Given the description of an element on the screen output the (x, y) to click on. 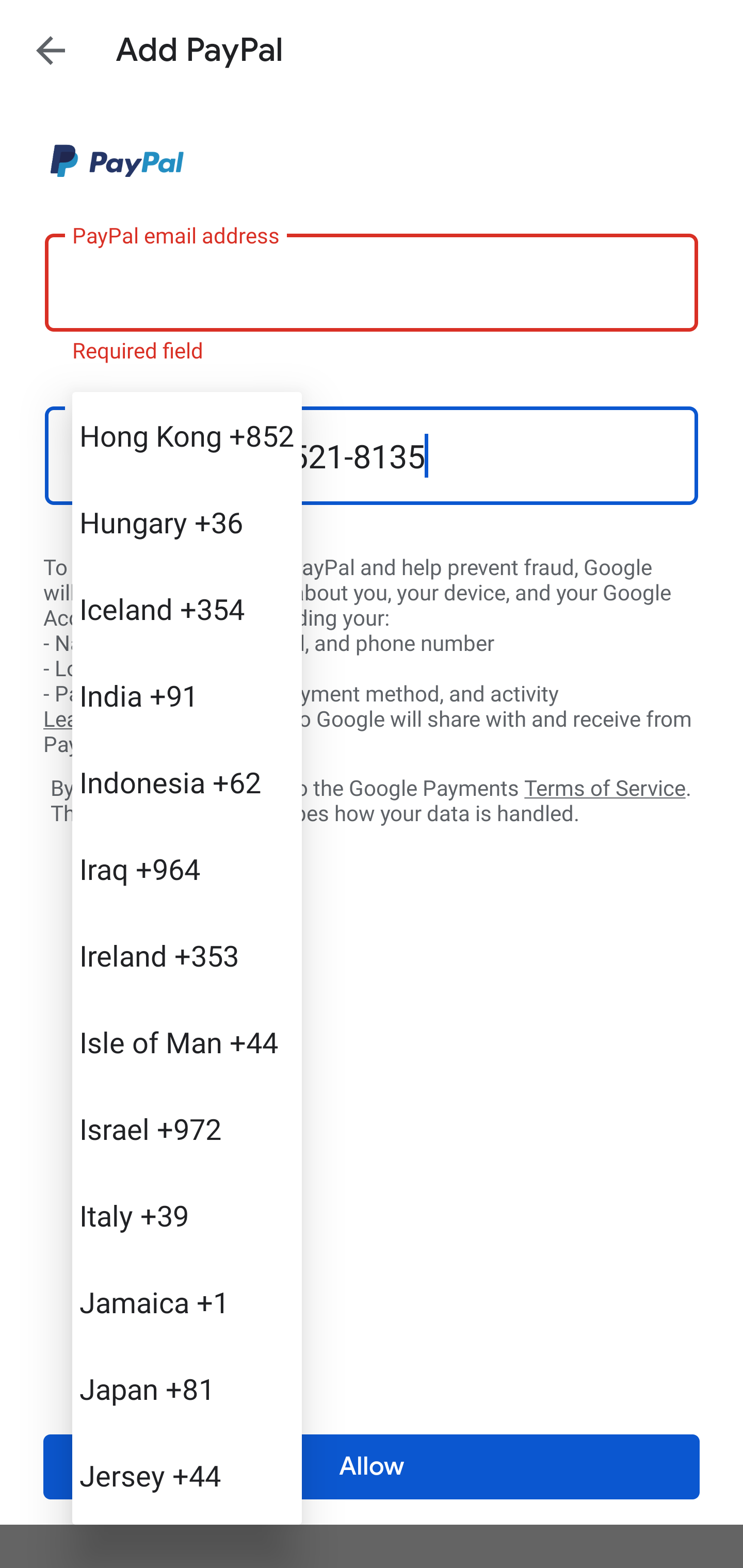
Hong Kong +852 (186, 435)
Hungary +36 (186, 522)
Iceland +354 (186, 609)
India +91 (186, 695)
Indonesia +62 (186, 781)
Iraq +964 (186, 868)
Ireland +353 (186, 955)
Isle of Man +44 (186, 1041)
Israel +972 (186, 1128)
Italy +39 (186, 1215)
Jamaica +1 (186, 1302)
Japan +81 (186, 1388)
Jersey +44 (186, 1474)
